Given the description of an element on the screen output the (x, y) to click on. 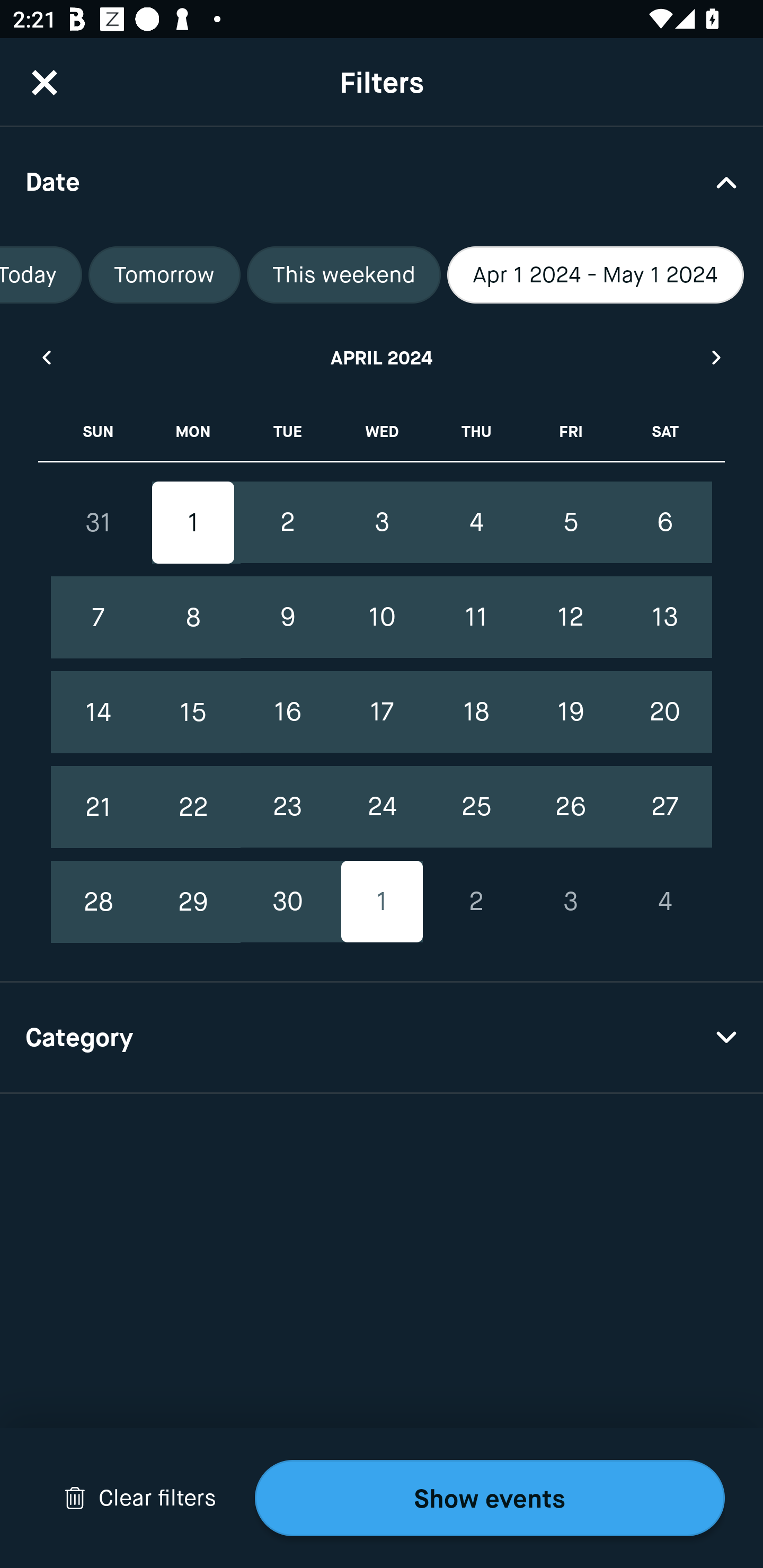
CloseButton (44, 82)
Date Drop Down Arrow (381, 181)
Tomorrow (164, 274)
This weekend (344, 274)
Apr 1 2024 - May 1 2024 (595, 274)
Previous (45, 357)
Next (717, 357)
31 (98, 522)
1 (192, 522)
2 (287, 522)
3 (381, 522)
4 (475, 522)
5 (570, 522)
6 (664, 522)
7 (98, 617)
8 (192, 617)
9 (287, 617)
10 (381, 617)
11 (475, 617)
12 (570, 617)
13 (664, 617)
14 (98, 711)
15 (192, 711)
16 (287, 711)
17 (381, 711)
18 (475, 711)
19 (570, 711)
20 (664, 711)
21 (98, 806)
22 (192, 806)
23 (287, 806)
24 (381, 806)
25 (475, 806)
26 (570, 806)
27 (664, 806)
28 (98, 901)
29 (192, 901)
30 (287, 901)
1 (381, 901)
2 (475, 901)
3 (570, 901)
4 (664, 901)
Category Drop Down Arrow (381, 1038)
Drop Down Arrow Clear filters (139, 1497)
Show events (489, 1497)
